Given the description of an element on the screen output the (x, y) to click on. 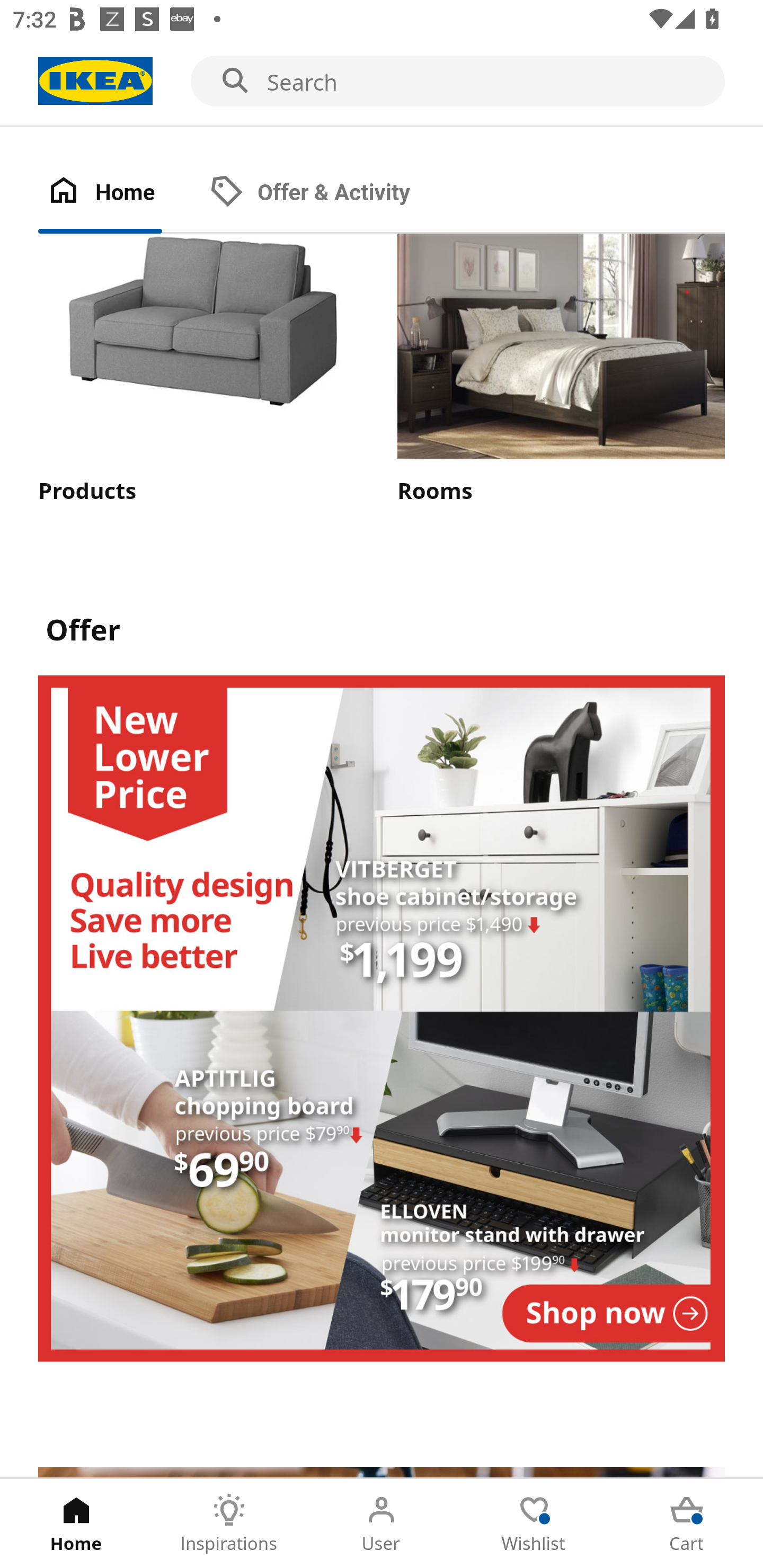
Search (381, 81)
Home
Tab 1 of 2 (118, 192)
Offer & Activity
Tab 2 of 2 (327, 192)
Products (201, 369)
Rooms (560, 369)
Home
Tab 1 of 5 (76, 1522)
Inspirations
Tab 2 of 5 (228, 1522)
User
Tab 3 of 5 (381, 1522)
Wishlist
Tab 4 of 5 (533, 1522)
Cart
Tab 5 of 5 (686, 1522)
